Given the description of an element on the screen output the (x, y) to click on. 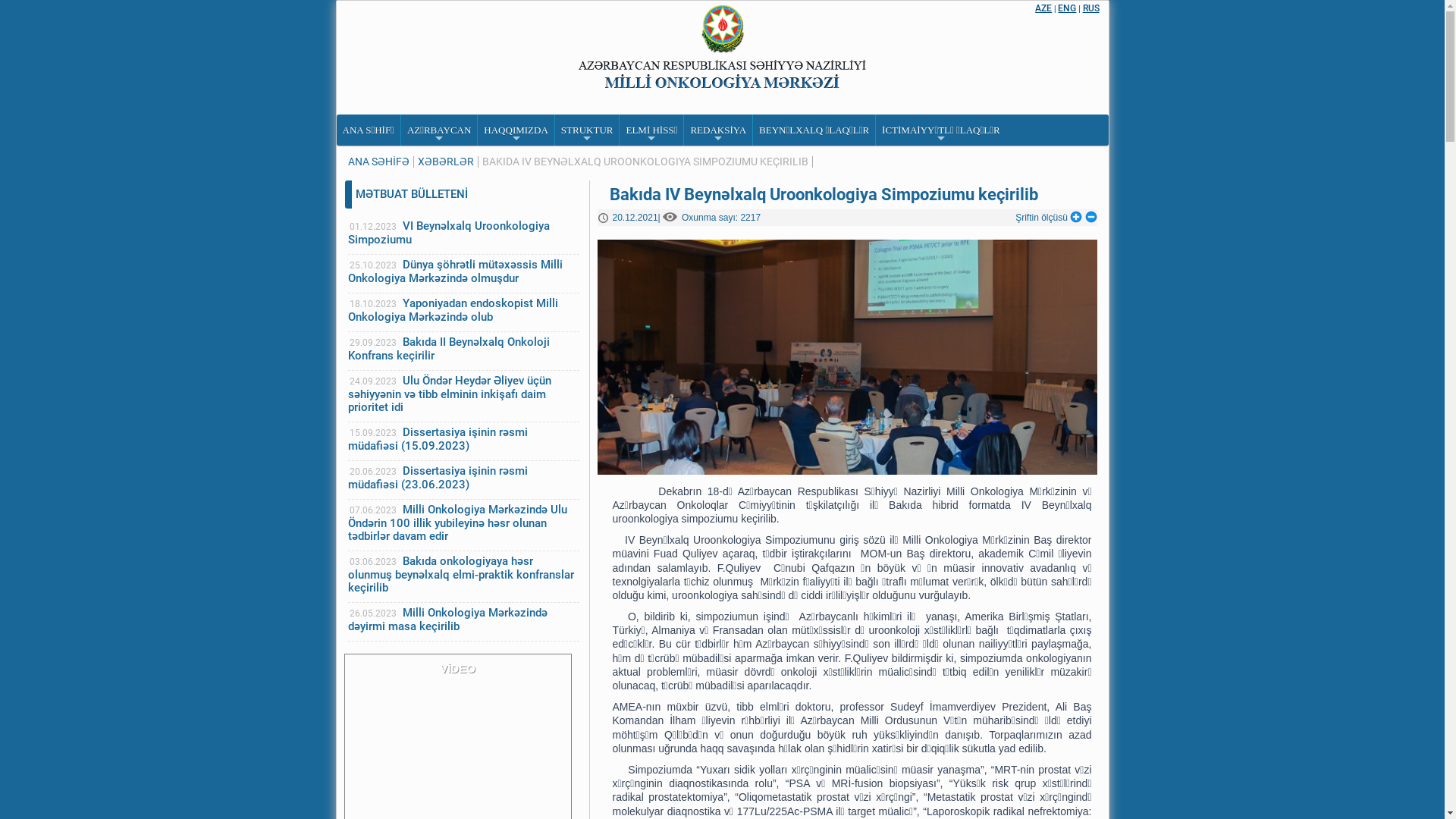
AZE Element type: text (1043, 8)
ENG Element type: text (1066, 8)
RUS Element type: text (1090, 8)
+
HAQQIMIZDA Element type: text (515, 129)
+
STRUKTUR Element type: text (587, 129)
